Given the description of an element on the screen output the (x, y) to click on. 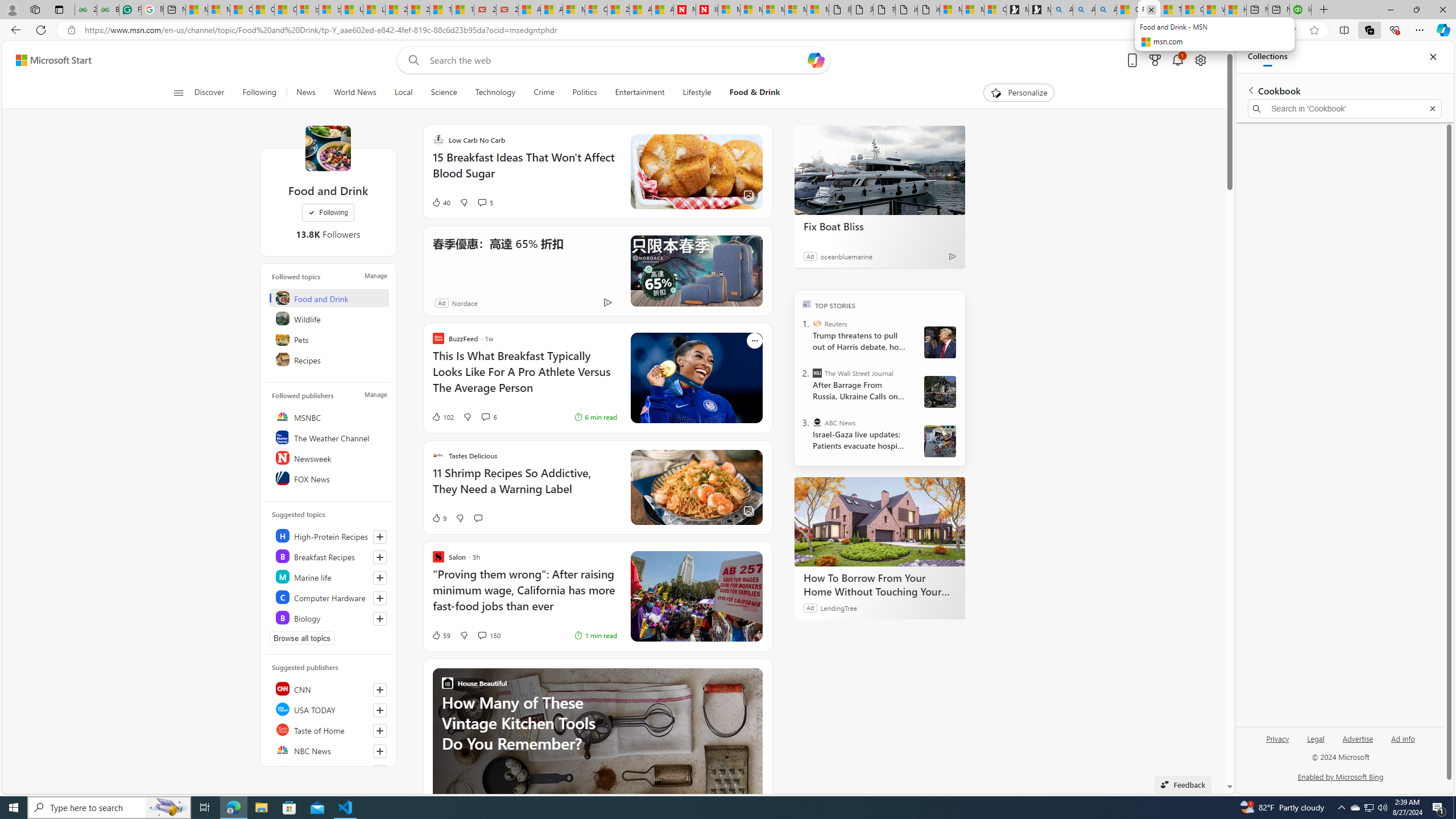
Fix Boat Bliss (879, 226)
How to Use a TV as a Computer Monitor (1235, 9)
Alabama high school quarterback dies - Search Videos (1105, 9)
